Given the description of an element on the screen output the (x, y) to click on. 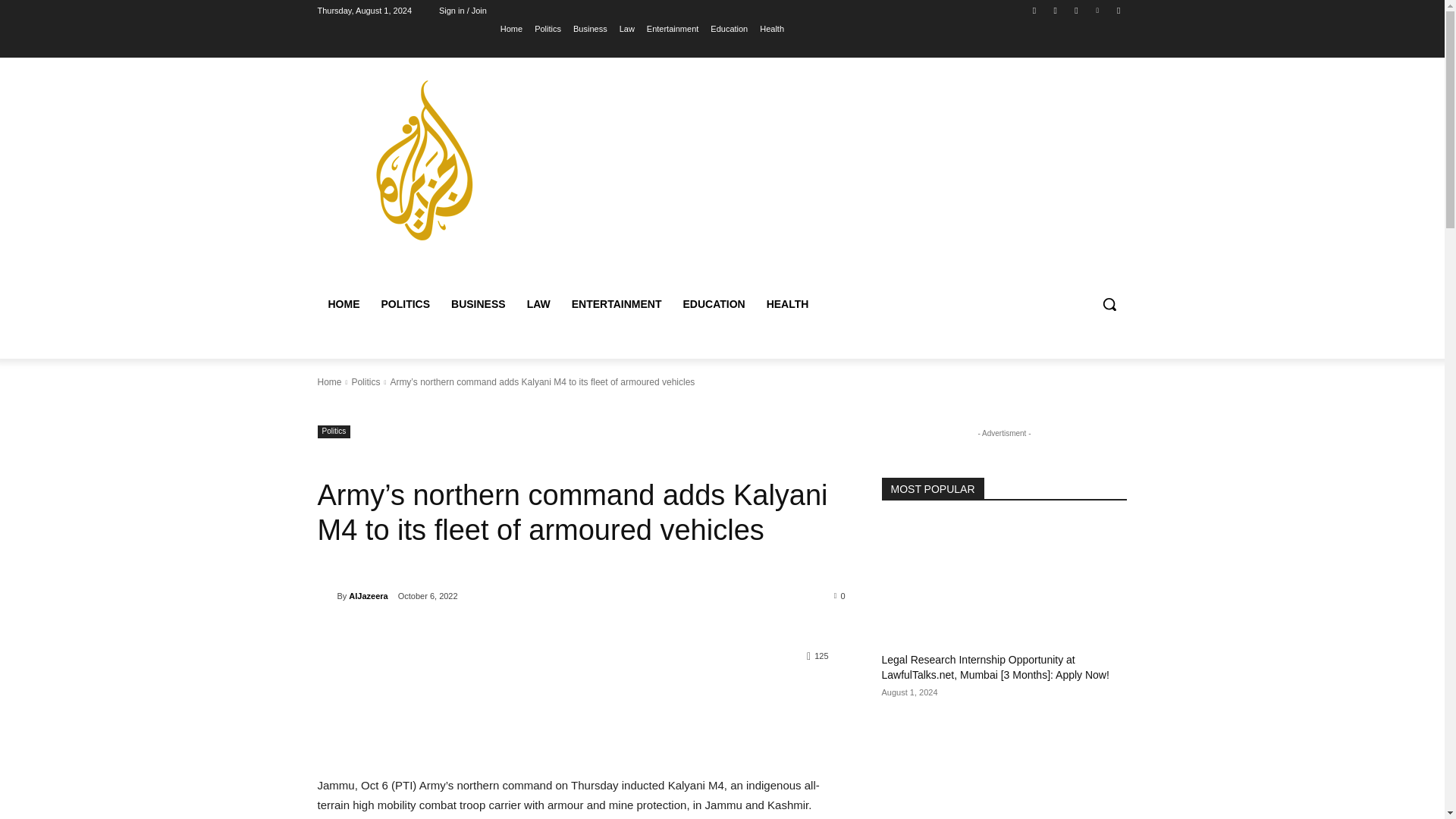
Youtube (1117, 9)
Twitter (1075, 9)
EDUCATION (713, 303)
Entertainment (672, 28)
Politics (365, 381)
AlJazeera (368, 595)
LAW (538, 303)
AlJazeera (326, 595)
View all posts in Politics (365, 381)
Health (772, 28)
Home (511, 28)
Instagram (1055, 9)
Business (590, 28)
Politics (333, 431)
Education (729, 28)
